Given the description of an element on the screen output the (x, y) to click on. 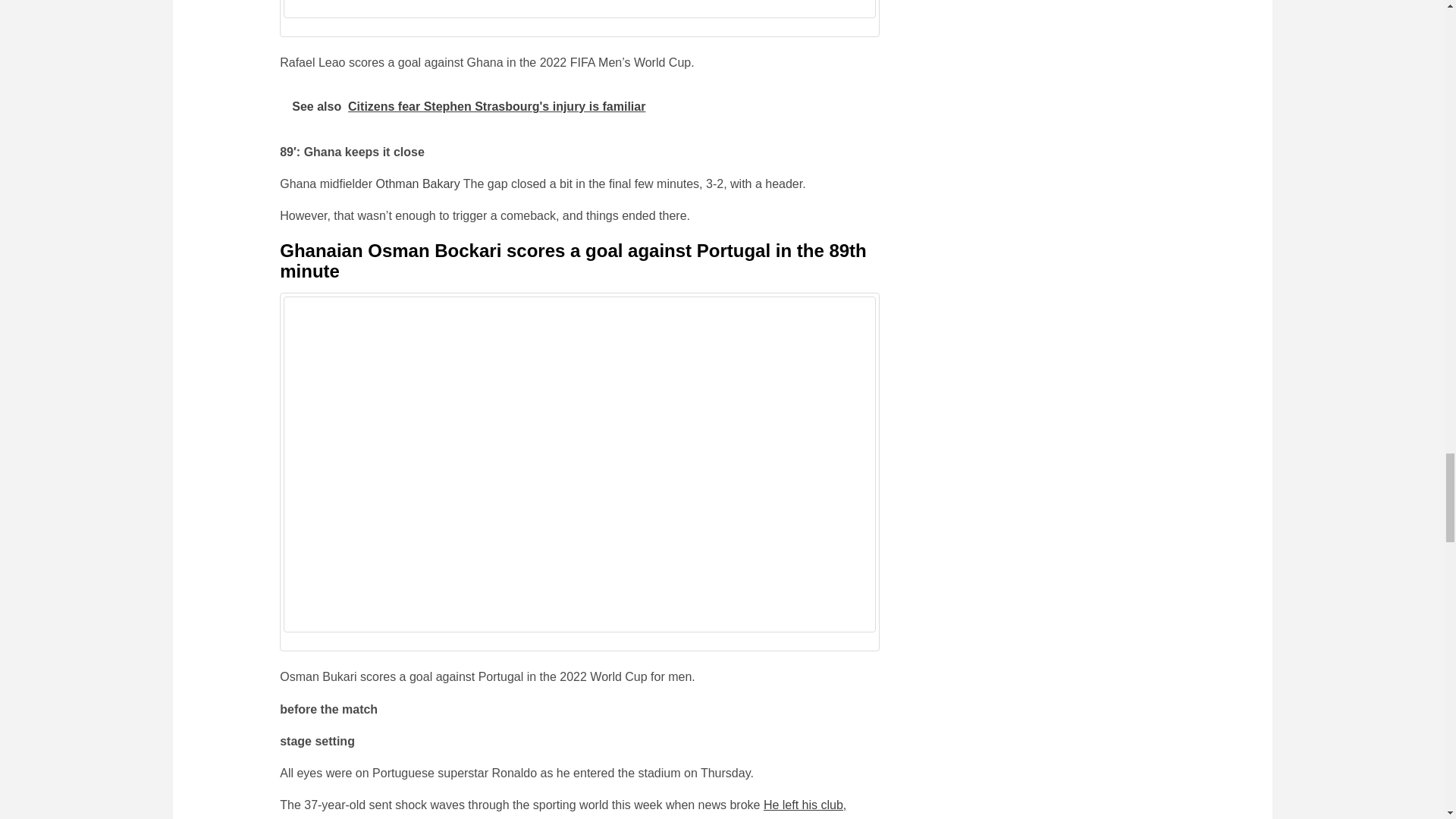
He left his club, Manchester United, by mutual consent (562, 808)
Othman Bakary (417, 183)
